Given the description of an element on the screen output the (x, y) to click on. 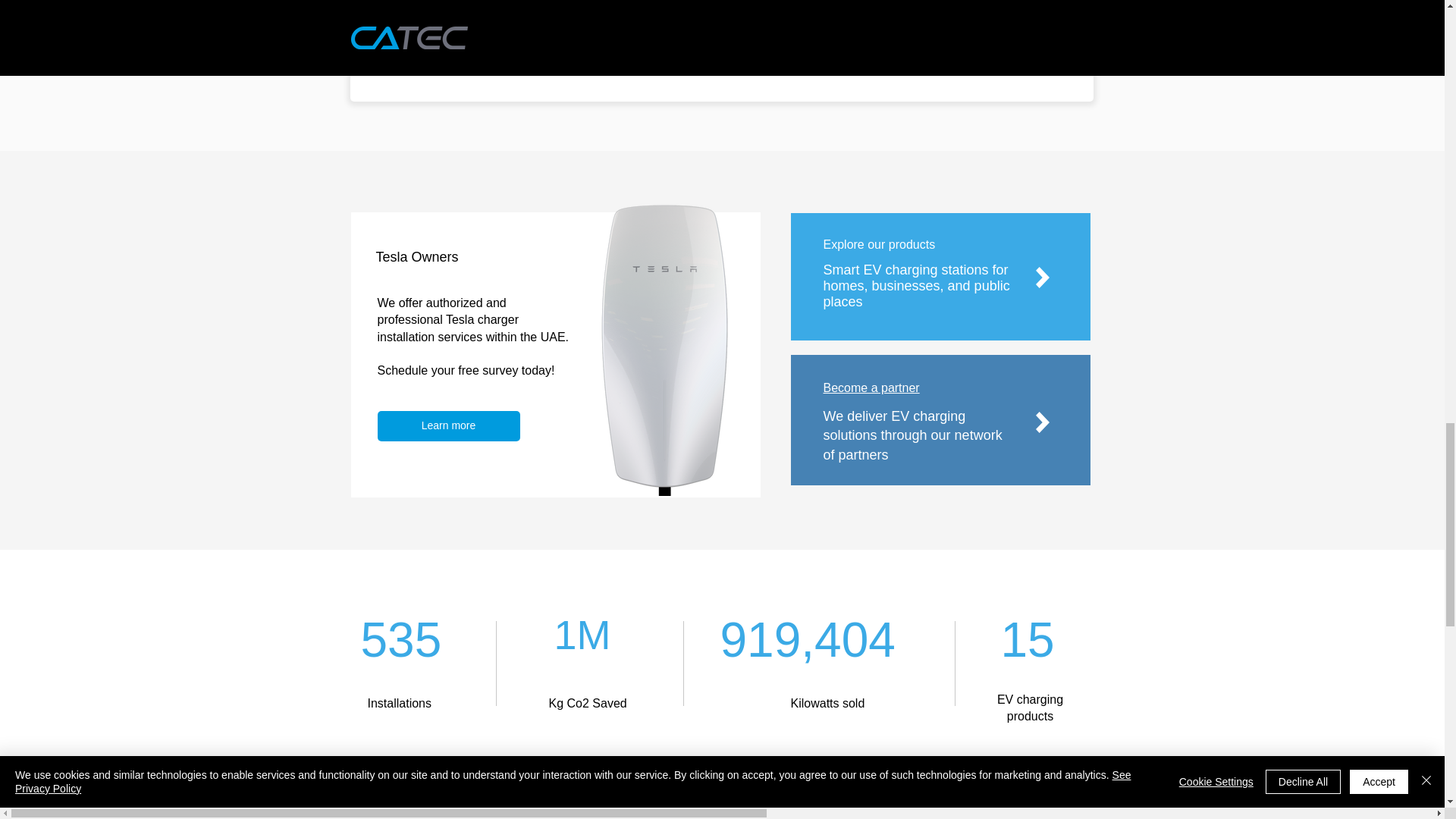
Offering.png (480, 27)
Read More (688, 33)
Learn more (448, 426)
Become a partner (872, 387)
